Given the description of an element on the screen output the (x, y) to click on. 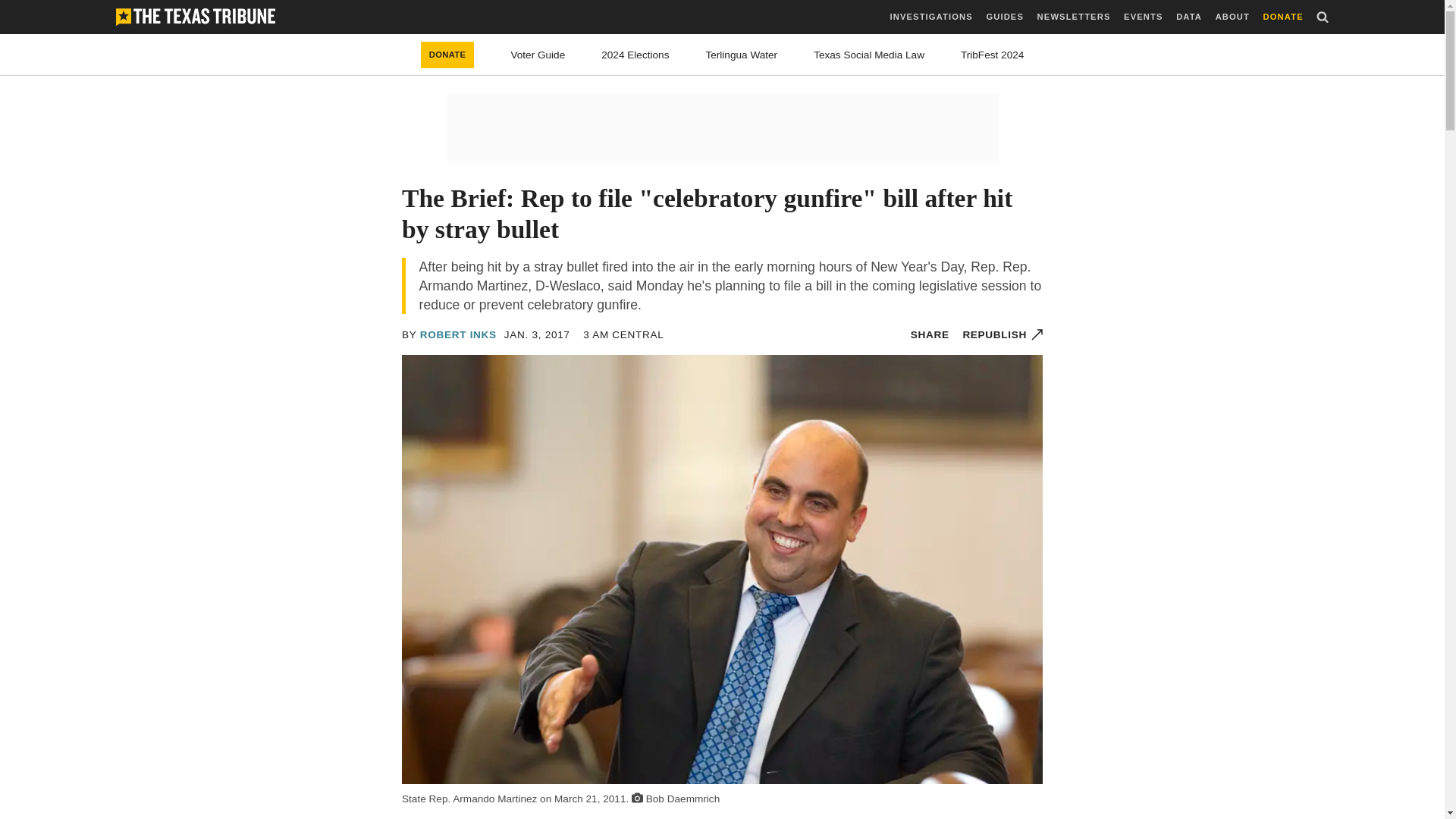
2017-01-03 03:55 CST (623, 334)
ABOUT (1232, 17)
DONATE (1283, 17)
Texas Social Media Law (868, 54)
Voter Guide (537, 54)
REPUBLISH (1002, 334)
TribFest 2024 (991, 54)
2024 Elections (634, 54)
DONATE (447, 54)
INVESTIGATIONS (930, 17)
